Given the description of an element on the screen output the (x, y) to click on. 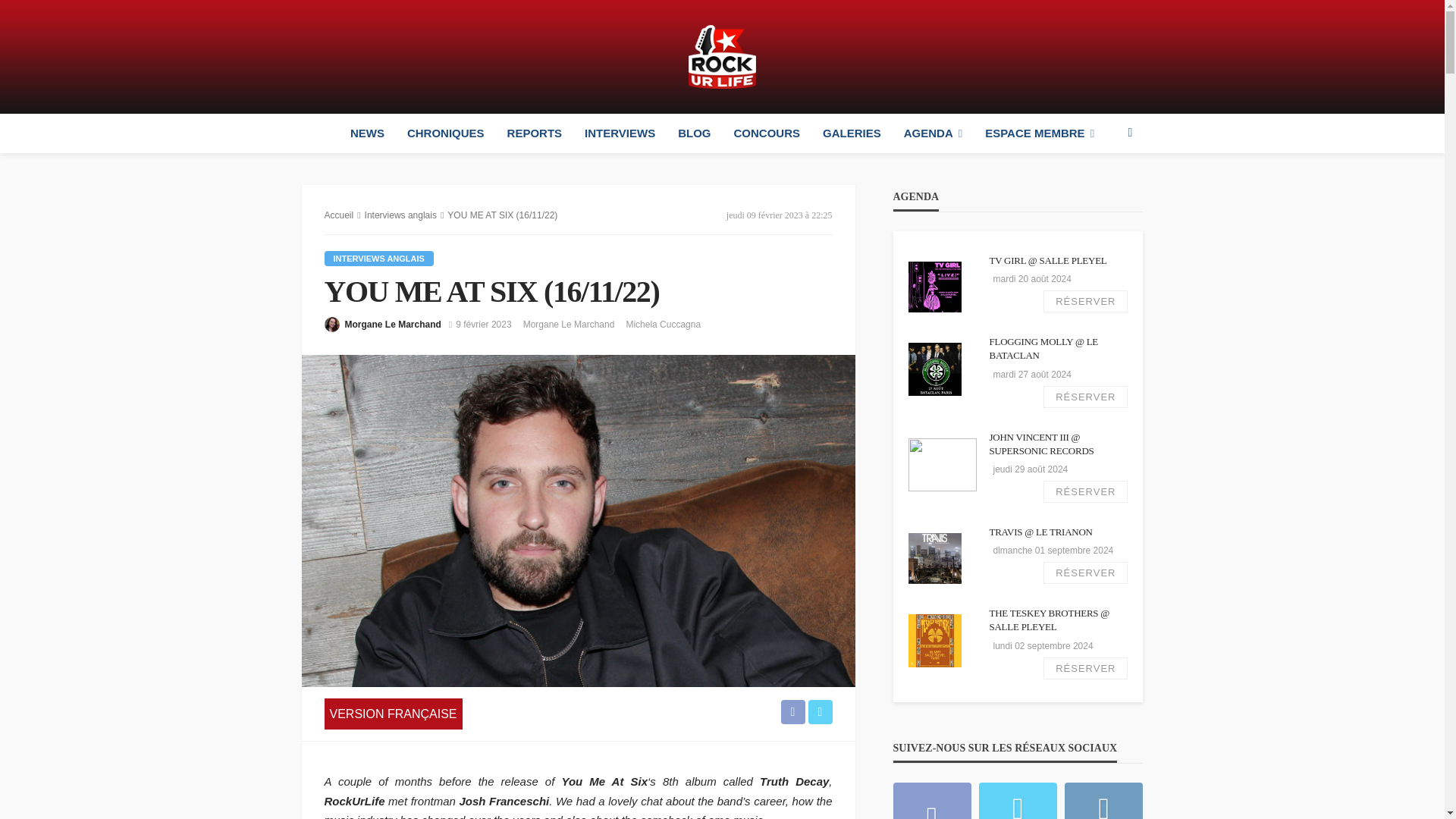
NEWS (367, 133)
Interviews anglais (400, 214)
INTERVIEWS (619, 133)
BLOG (694, 133)
GALERIES (851, 133)
REPORTS (534, 133)
Accueil (338, 214)
AGENDA (933, 133)
CONCOURS (767, 133)
